Given the description of an element on the screen output the (x, y) to click on. 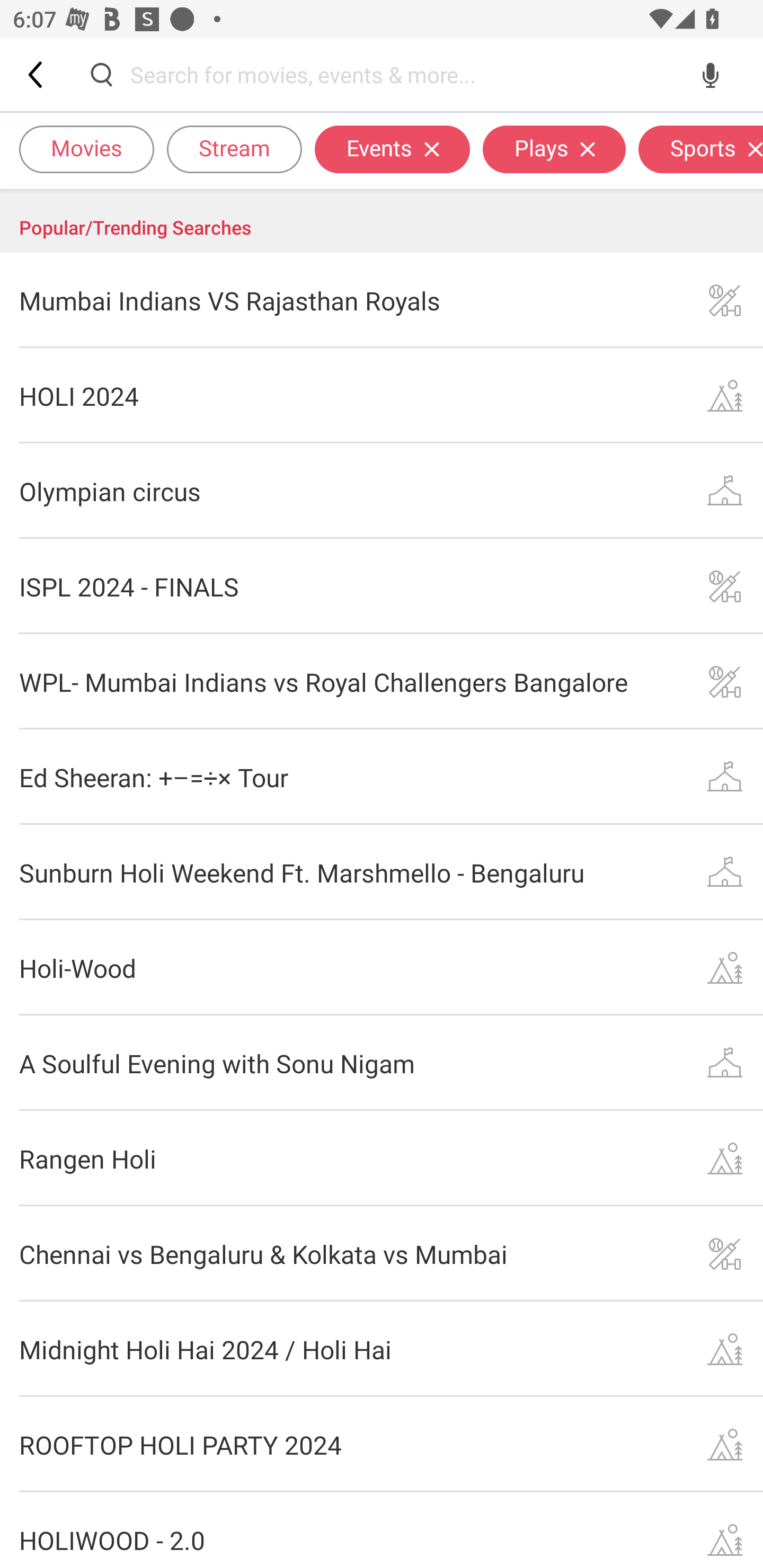
Back (36, 74)
Search for movies, events & more... (406, 74)
Movies (86, 148)
Stream (234, 148)
Events Clear (392, 148)
Plays Clear (553, 148)
Sports Clear (700, 148)
Popular/Trending Searches (381, 220)
Mumbai Indians VS Rajasthan Royals (381, 300)
HOLI 2024 (381, 395)
Olympian circus (381, 491)
ISPL 2024 - FINALS (381, 586)
WPL- Mumbai Indians vs Royal Challengers Bangalore (381, 681)
Ed Sheeran: +–=÷× Tour (381, 776)
Sunburn Holi Weekend Ft. Marshmello - Bengaluru (381, 872)
Holi-Wood (381, 968)
A Soulful Evening with Sonu Nigam (381, 1063)
Rangen Holi (381, 1157)
Chennai vs Bengaluru & Kolkata vs Mumbai (381, 1253)
Midnight Holi Hai 2024 / Holi Hai (381, 1349)
ROOFTOP HOLI PARTY 2024 (381, 1444)
HOLIWOOD - 2.0 (381, 1530)
